Given the description of an element on the screen output the (x, y) to click on. 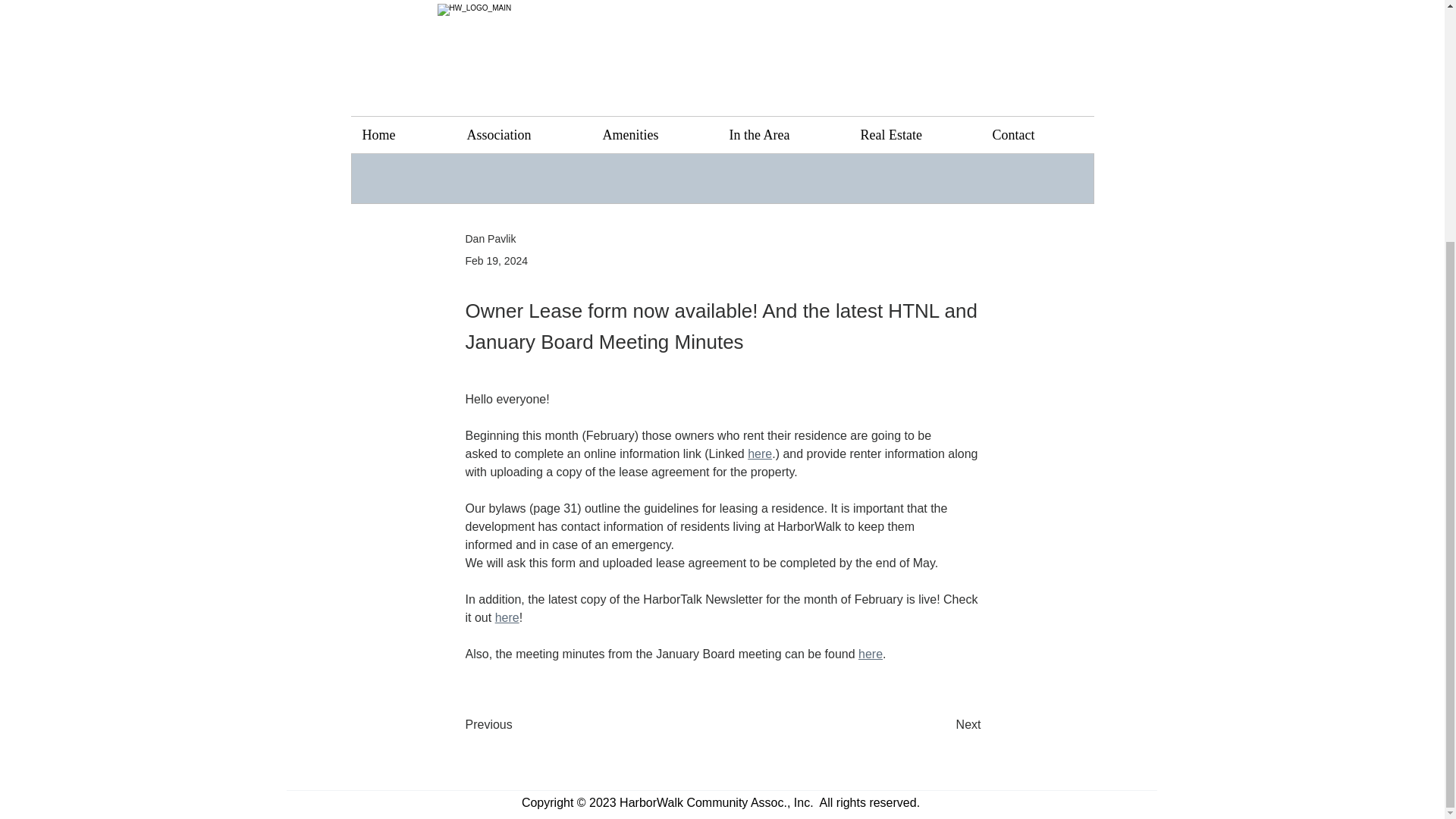
here (759, 453)
Previous (515, 725)
here (507, 617)
Next (943, 725)
here (870, 653)
